Given the description of an element on the screen output the (x, y) to click on. 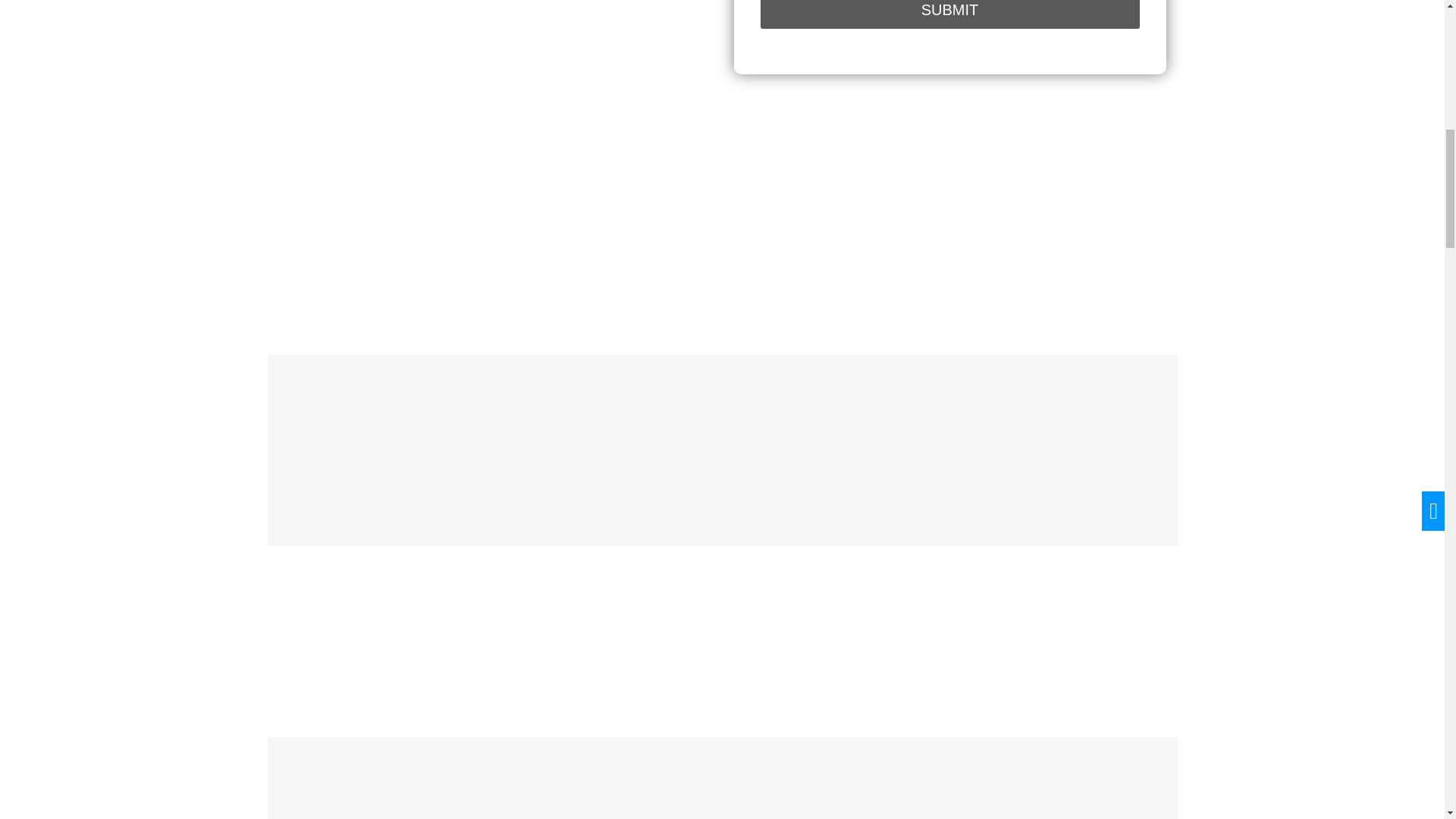
Submit (949, 14)
Submit (949, 14)
